Given the description of an element on the screen output the (x, y) to click on. 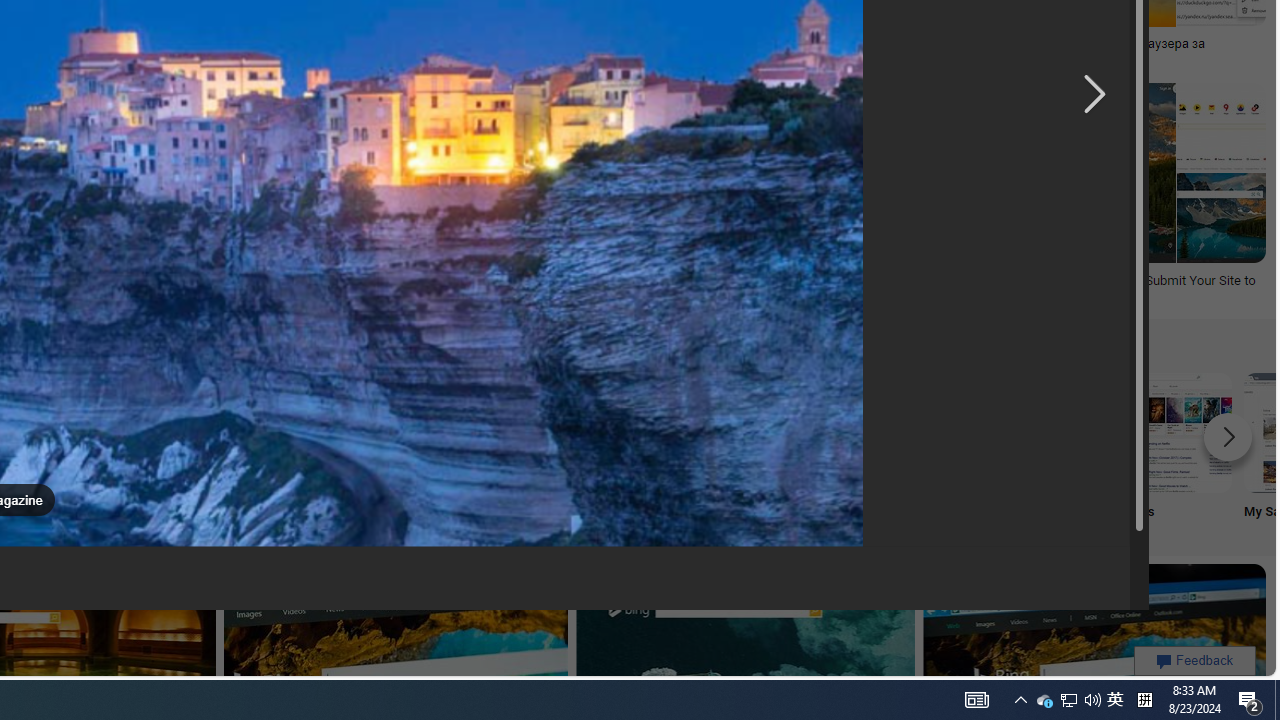
Tricks (1039, 450)
New Bing Image Search New (775, 450)
Bing Random Search (116, 432)
Web Searching | Computer Applications for Managers (216, 287)
